Given the description of an element on the screen output the (x, y) to click on. 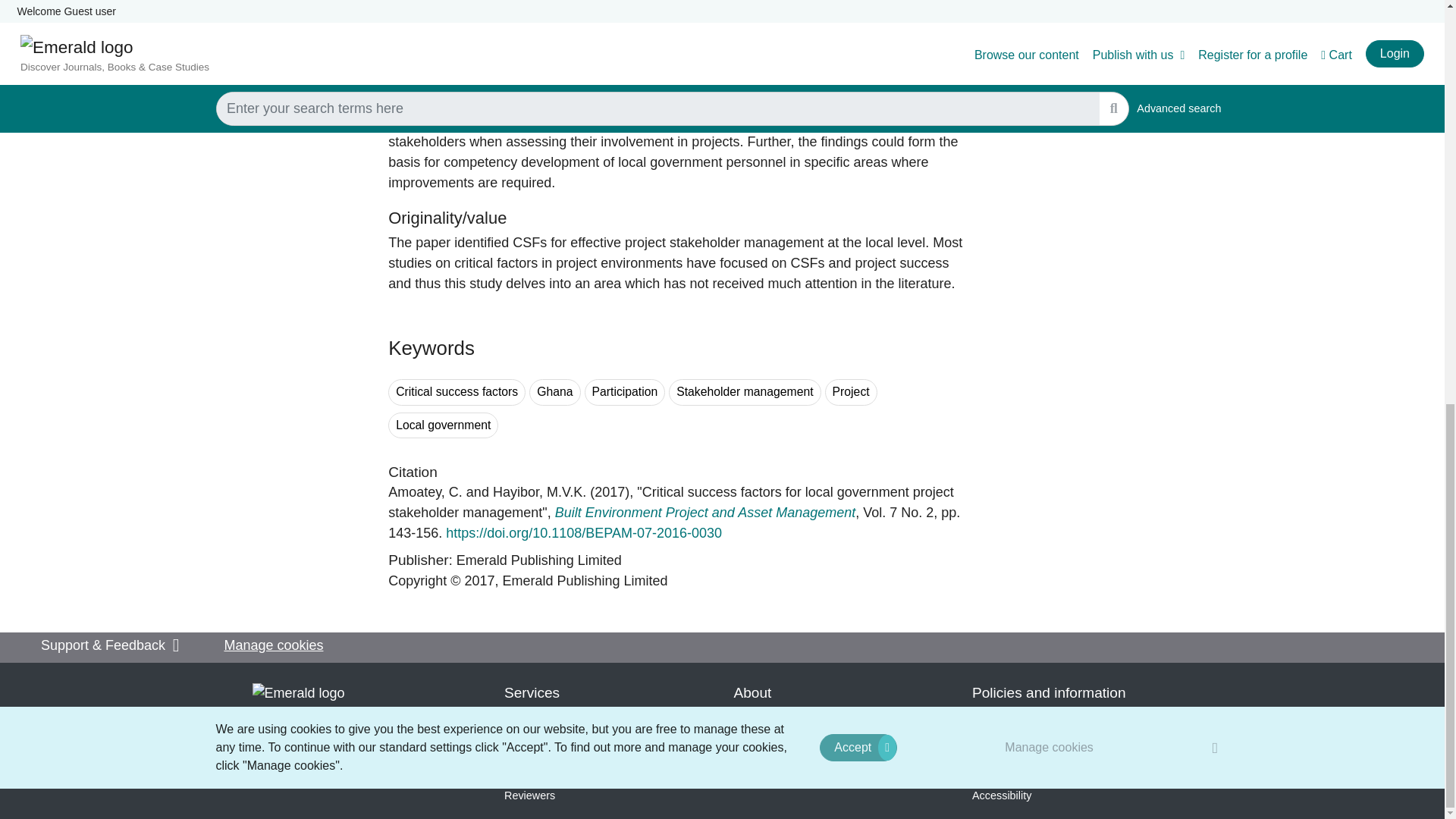
Mawuena Vincent Kodzo Hayibor (539, 491)
Search for keyword Local government (442, 425)
Search for keyword Project (851, 392)
Search for keyword Critical success factors (456, 392)
Charles Amoatey (425, 491)
Search for keyword Stakeholder management (744, 392)
Search for keyword Ghana (554, 392)
Search for keyword Participation (625, 392)
